Given the description of an element on the screen output the (x, y) to click on. 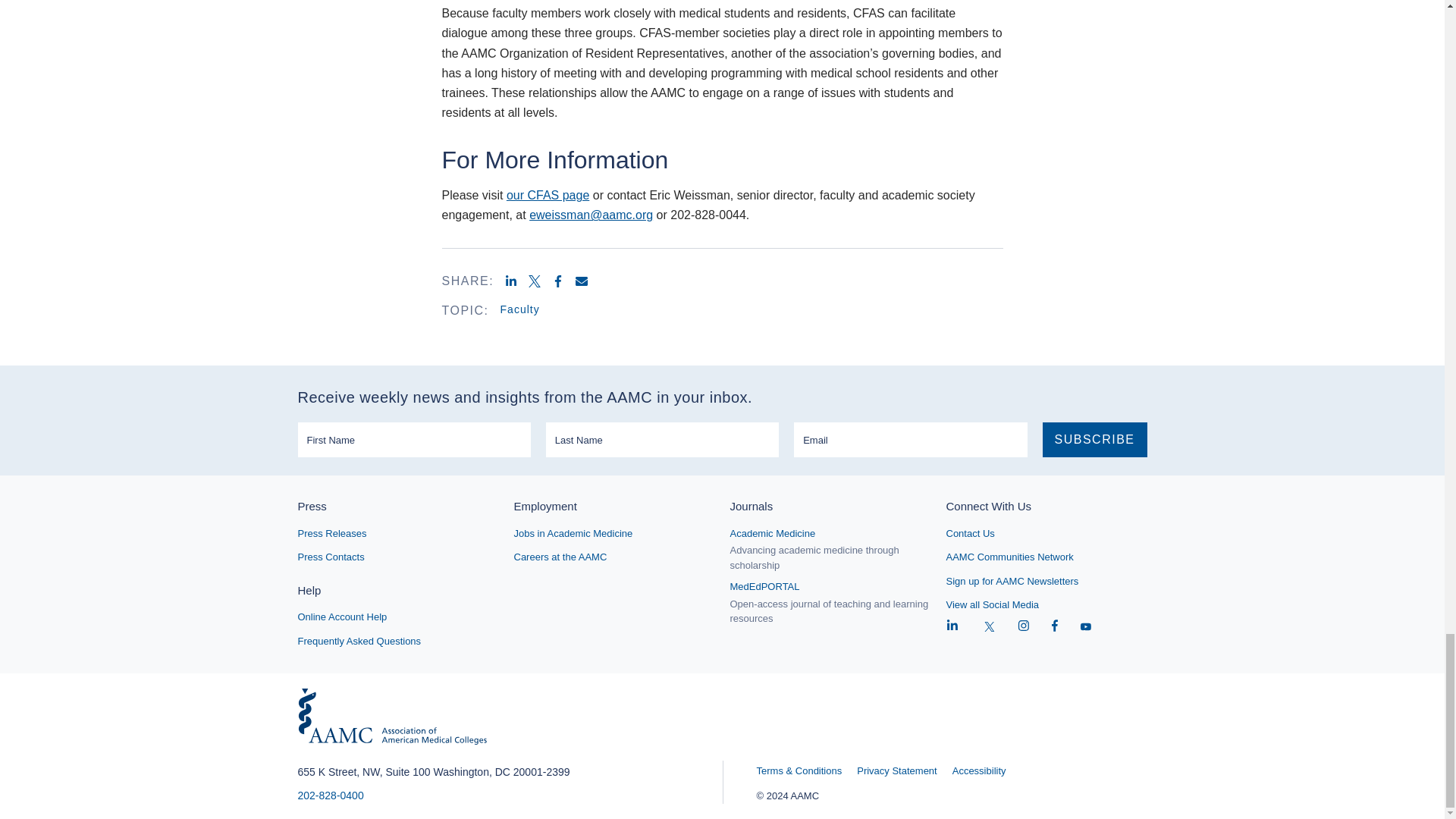
youtube (1086, 626)
X (989, 626)
Faculty (520, 309)
Email: (909, 439)
Email (586, 281)
instagram (1023, 626)
Subscribe (1094, 439)
First Name: (413, 439)
Linkedin (516, 281)
linkedin (952, 626)
